Given the description of an element on the screen output the (x, y) to click on. 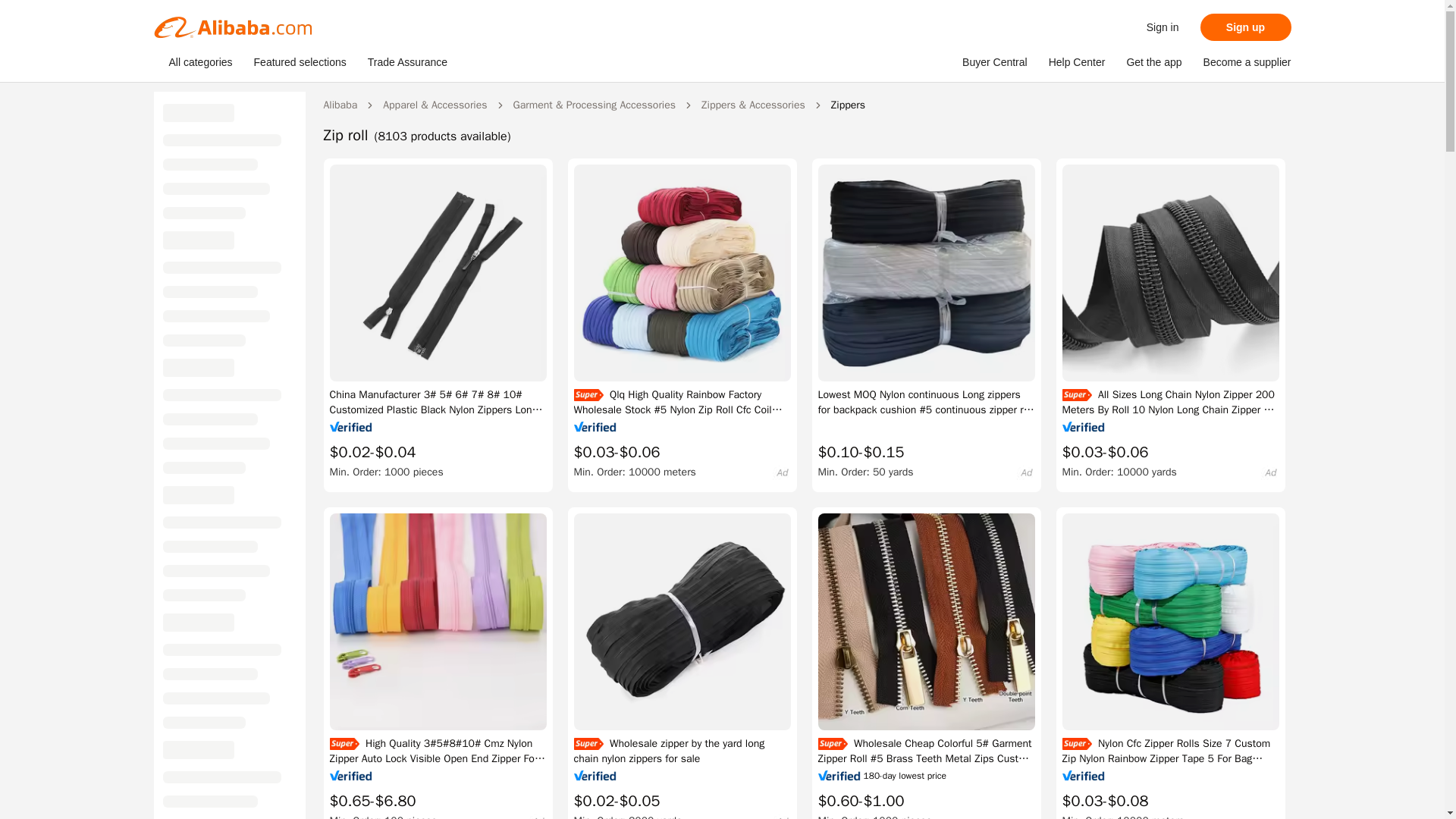
Alibaba (339, 105)
